Given the description of an element on the screen output the (x, y) to click on. 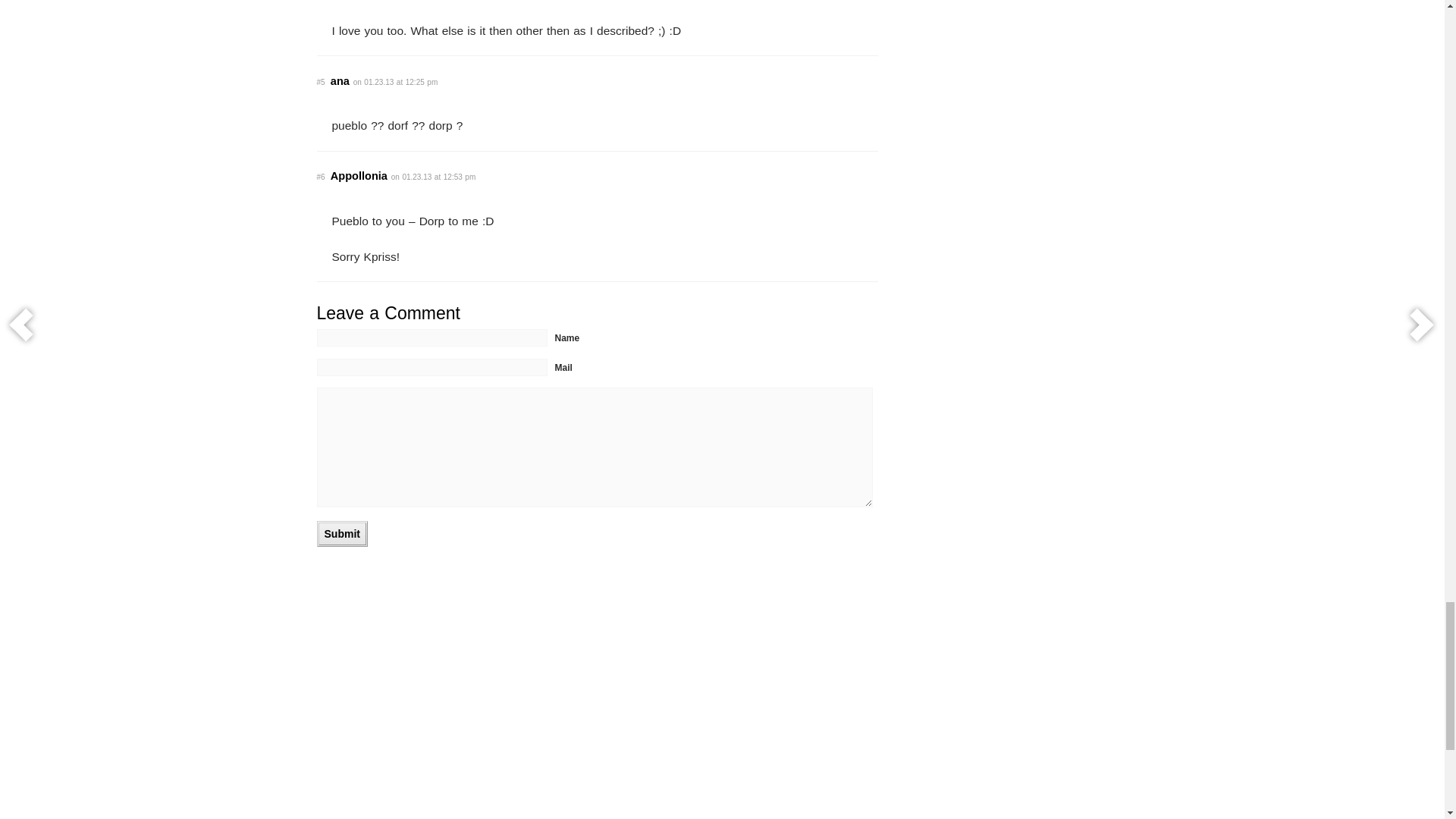
Permalink to this comment (320, 176)
Permalink to this comment (320, 81)
Submit (342, 533)
Submit (342, 533)
